Given the description of an element on the screen output the (x, y) to click on. 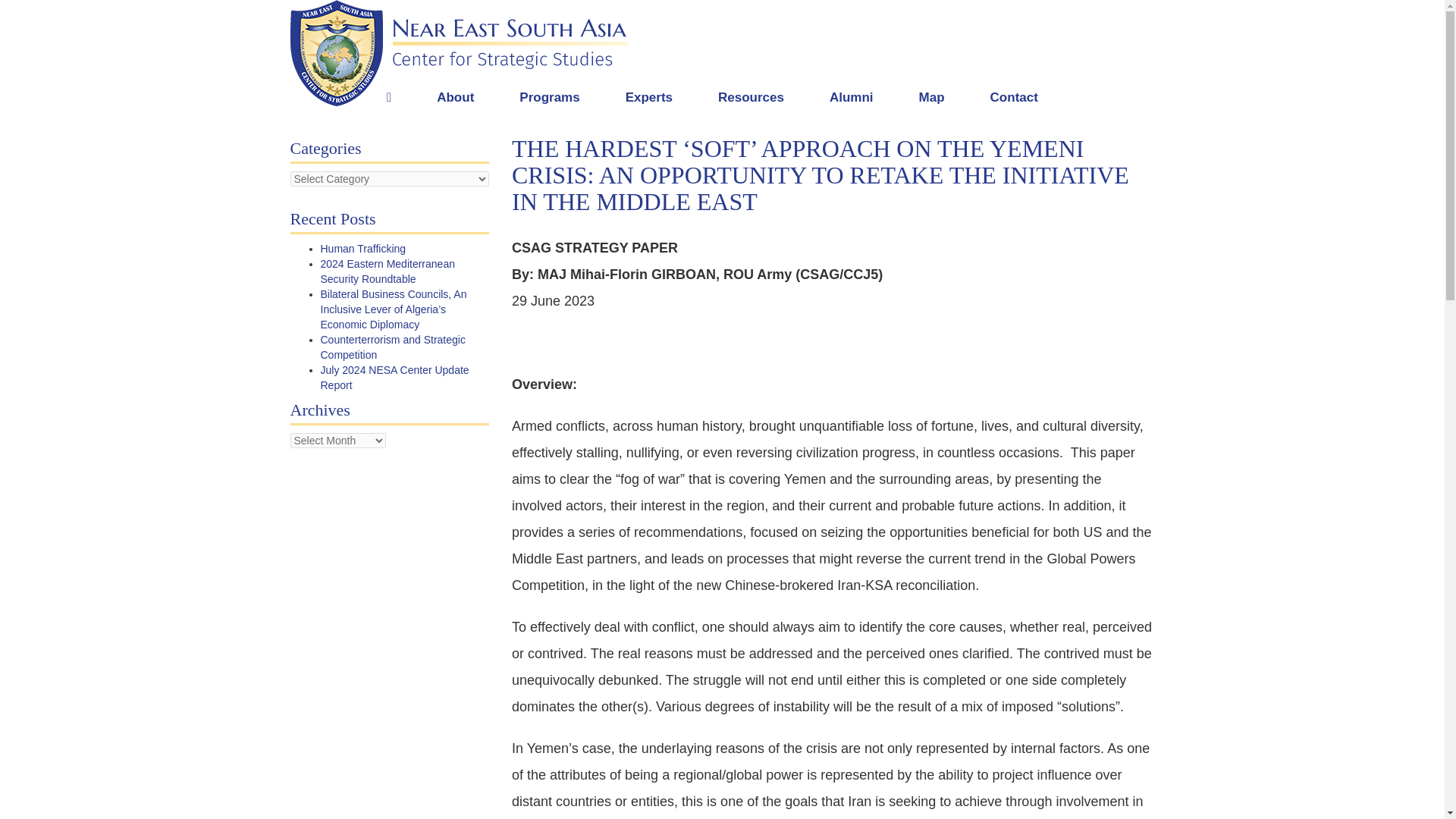
About (454, 97)
Counterterrorism and Strategic Competition (392, 347)
Experts (648, 97)
Alumni (851, 97)
Resources (750, 97)
Contact (1014, 97)
Experts (648, 97)
July 2024 NESA Center Update Report (394, 377)
About (454, 97)
Human Trafficking (363, 248)
Map (932, 97)
Programs (549, 97)
Resources (750, 97)
Programs (549, 97)
2024 Eastern Mediterranean Security Roundtable (387, 271)
